Given the description of an element on the screen output the (x, y) to click on. 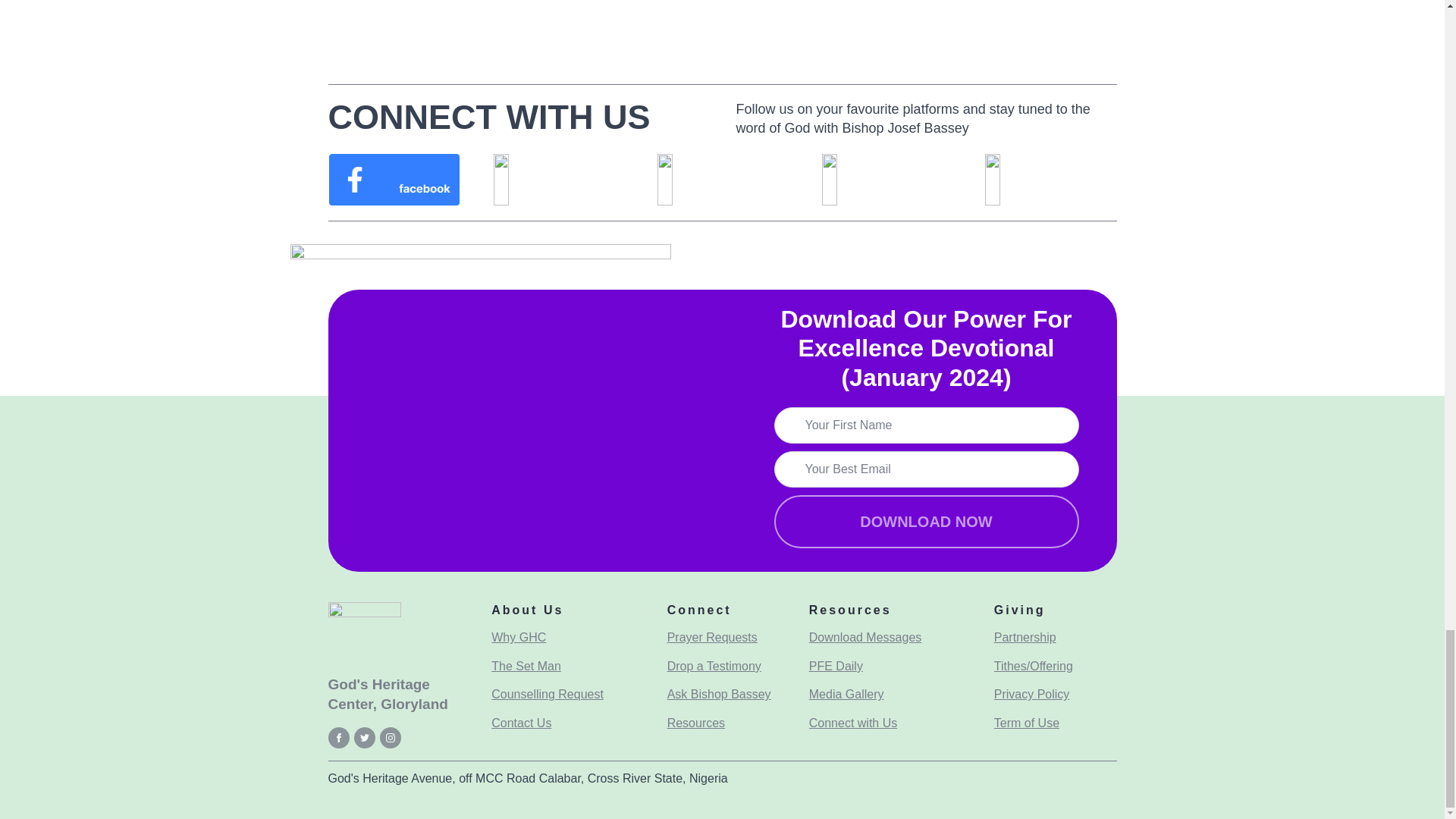
Prayer Requests (711, 637)
Why GHC (519, 637)
DOWNLOAD NOW (925, 521)
Contact Us (521, 723)
Ask Bishop Bassey (718, 694)
Download Messages (865, 637)
The Set Man (526, 666)
Media Gallery (846, 694)
Resources (695, 723)
Connect with Us (853, 723)
Partnership (1025, 637)
Drop a Testimony (713, 666)
PFE Daily (836, 666)
Counselling Request (548, 694)
